Given the description of an element on the screen output the (x, y) to click on. 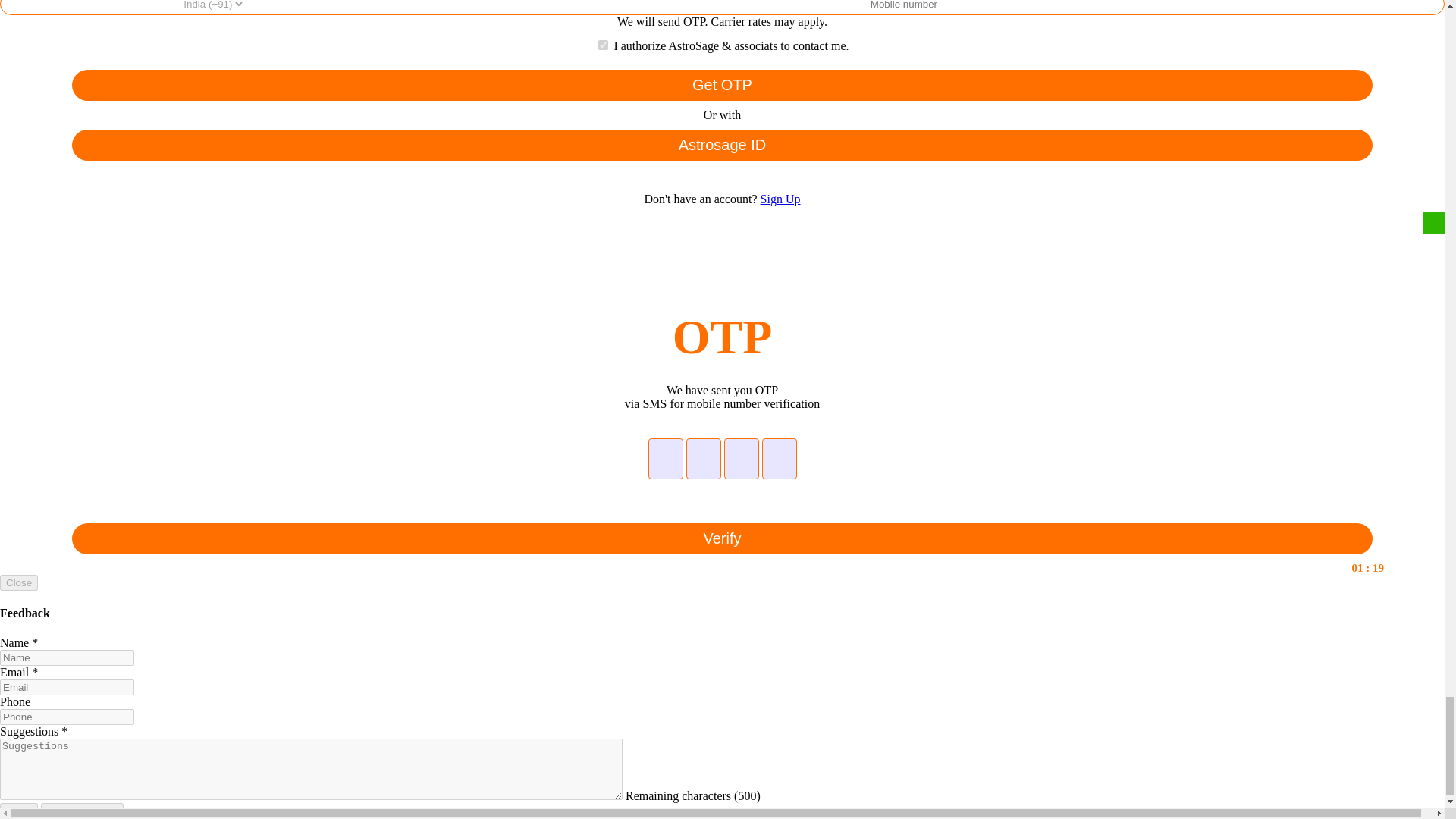
on (603, 44)
